Given the description of an element on the screen output the (x, y) to click on. 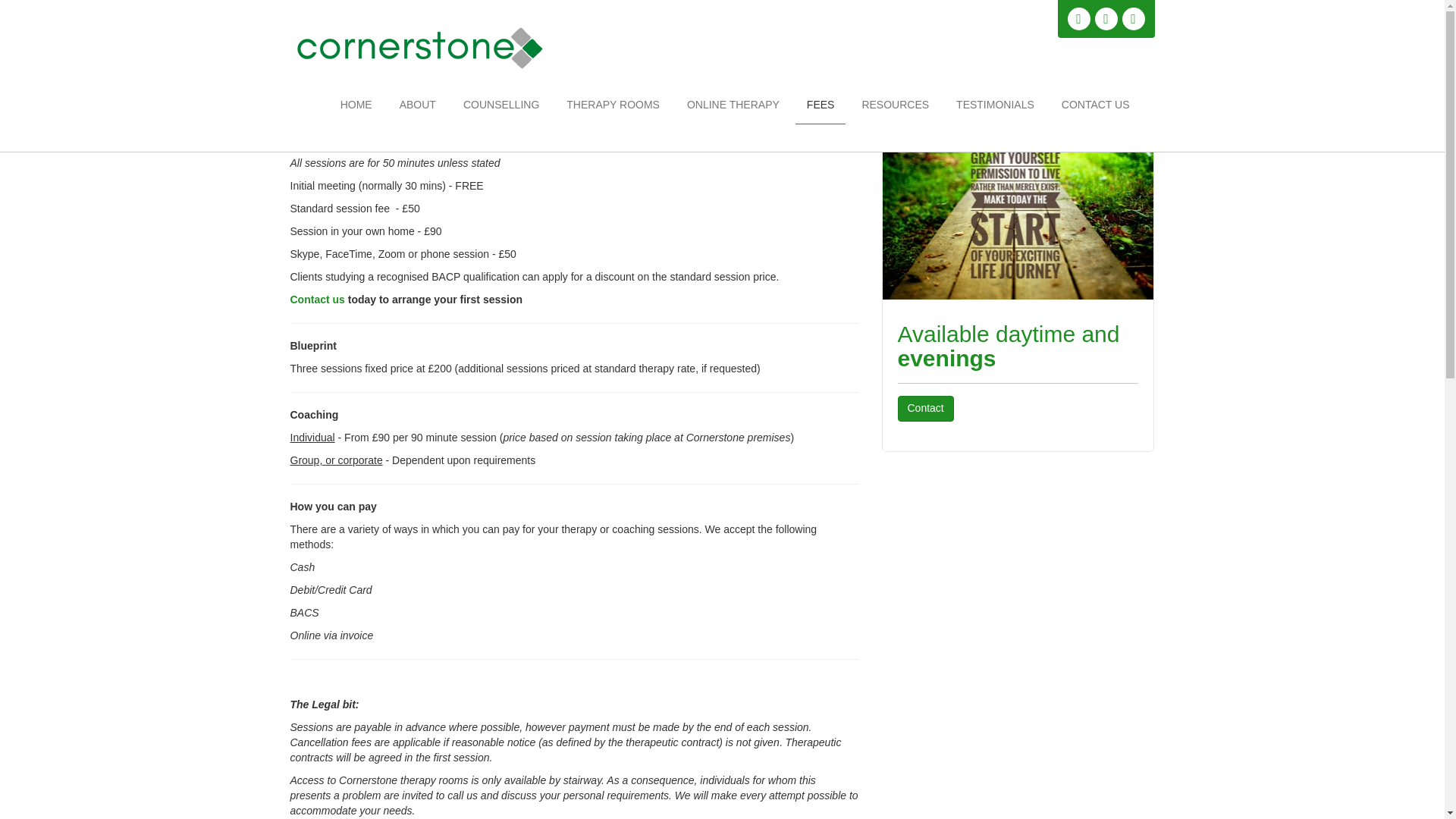
THERAPY ROOMS (612, 104)
ABOUT (417, 104)
RESOURCES (895, 104)
HOME (356, 104)
ONLINE THERAPY (732, 104)
Home (1094, 73)
FEES (819, 104)
Follow Cornerstone on Twitter (1106, 18)
TESTIMONIALS (994, 104)
Contact (925, 408)
Contact us (318, 299)
CONTACT US (1095, 104)
COUNSELLING (500, 104)
